Given the description of an element on the screen output the (x, y) to click on. 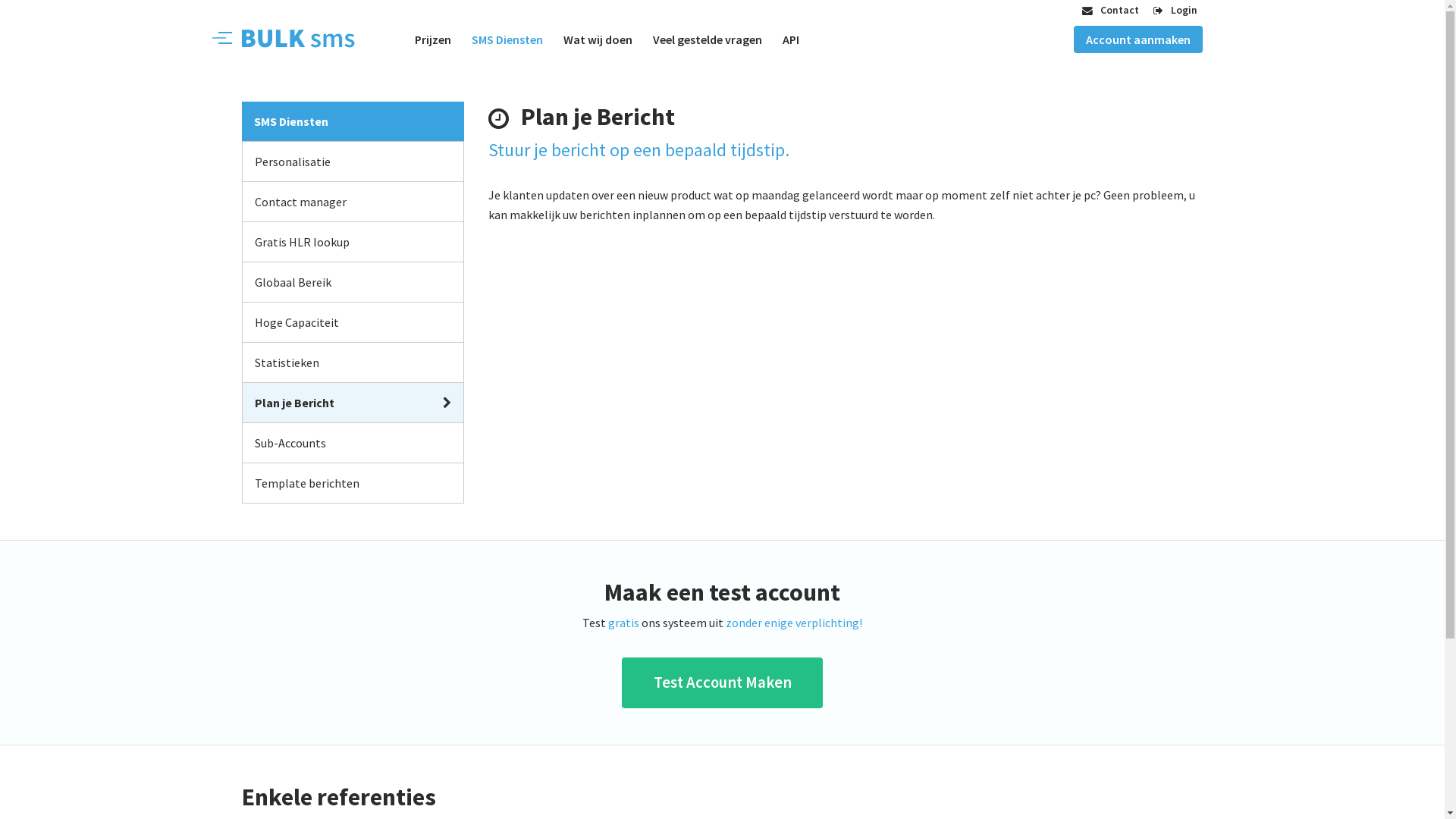
Gratis HLR lookup Element type: text (352, 241)
Hoge Capaciteit Element type: text (352, 322)
Account aanmaken Element type: text (1137, 39)
Wat wij doen Element type: text (597, 39)
Prijzen Element type: text (432, 39)
Login Element type: text (1175, 9)
Veel gestelde vragen Element type: text (707, 39)
Template berichten Element type: text (352, 482)
Bulk Sms Element type: text (283, 38)
API Element type: text (790, 39)
Contact Element type: text (1110, 9)
Personalisatie Element type: text (352, 161)
Contact manager Element type: text (352, 201)
Plan je Bericht Element type: text (352, 402)
Test Account Maken Element type: text (721, 683)
Statistieken Element type: text (352, 362)
Sub-Accounts Element type: text (352, 442)
SMS Diensten Element type: text (507, 39)
Globaal Bereik Element type: text (352, 281)
